Given the description of an element on the screen output the (x, y) to click on. 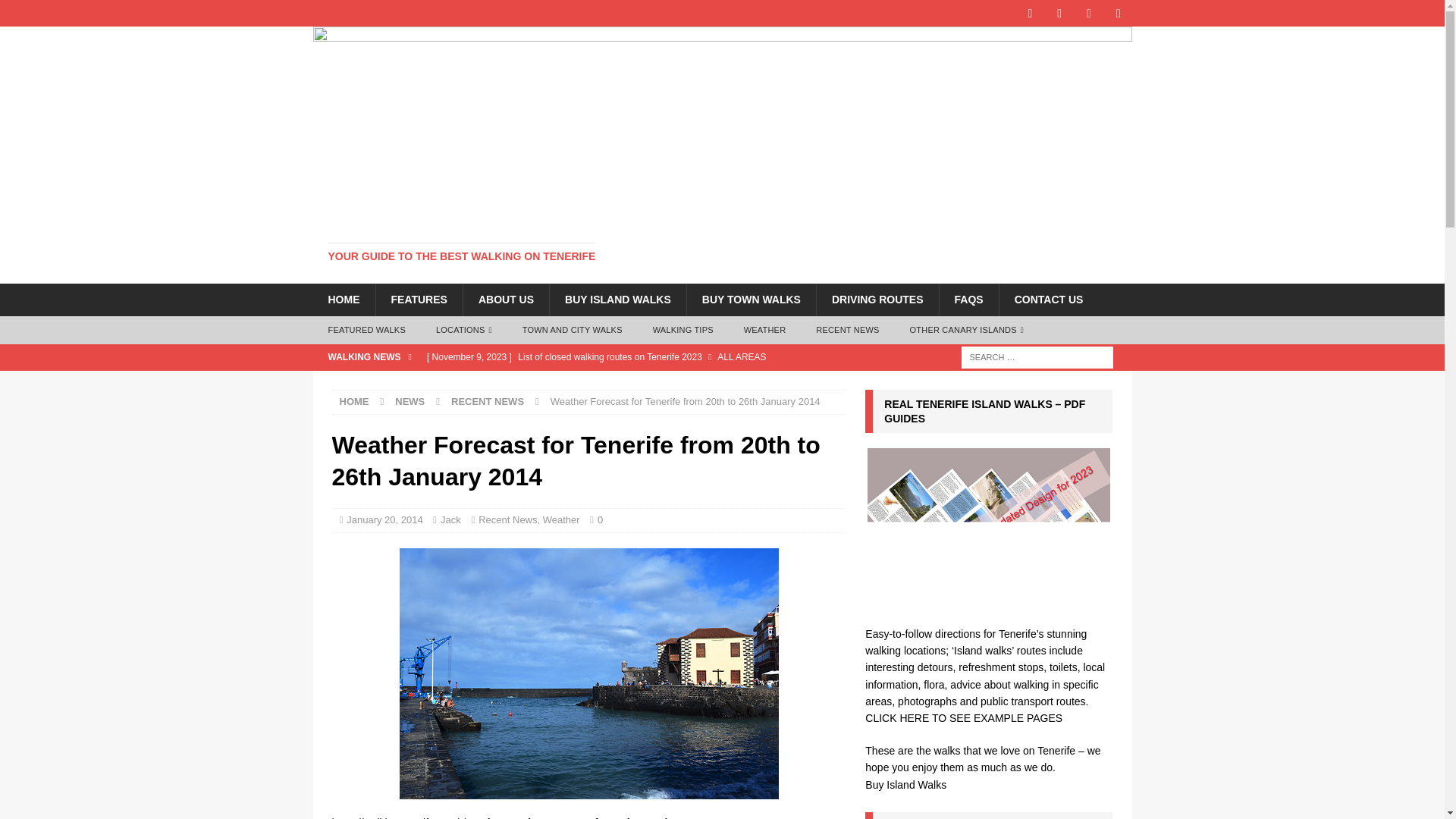
Weather (561, 519)
OTHER CANARY ISLANDS (967, 330)
Harbour, Puerto de la Cruz, Tenerife (588, 673)
FEATURES (417, 299)
HOME (354, 401)
YOUR GUIDE TO THE BEST WALKING ON TENERIFE (461, 256)
CONTACT US (1048, 299)
BUY TOWN WALKS (750, 299)
Recent News (508, 519)
ABOUT US (505, 299)
Search (56, 11)
January 20, 2014 (384, 519)
FEATURED WALKS (366, 330)
Jack (451, 519)
DRIVING ROUTES (877, 299)
